Given the description of an element on the screen output the (x, y) to click on. 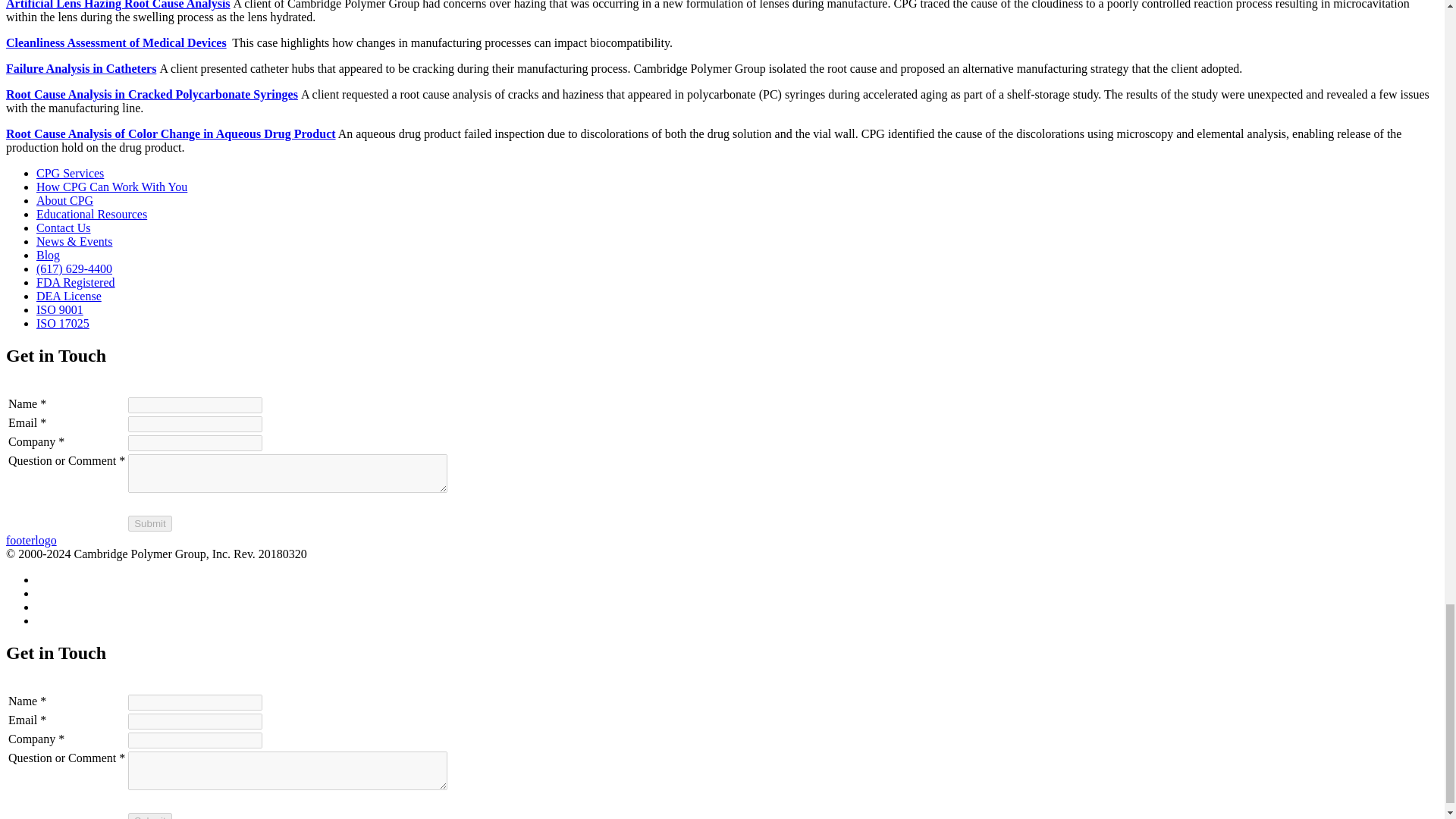
Submit (149, 523)
Failure Analysis in Catheters CASESTUDY-10 v1.1.pdf (80, 68)
